Given the description of an element on the screen output the (x, y) to click on. 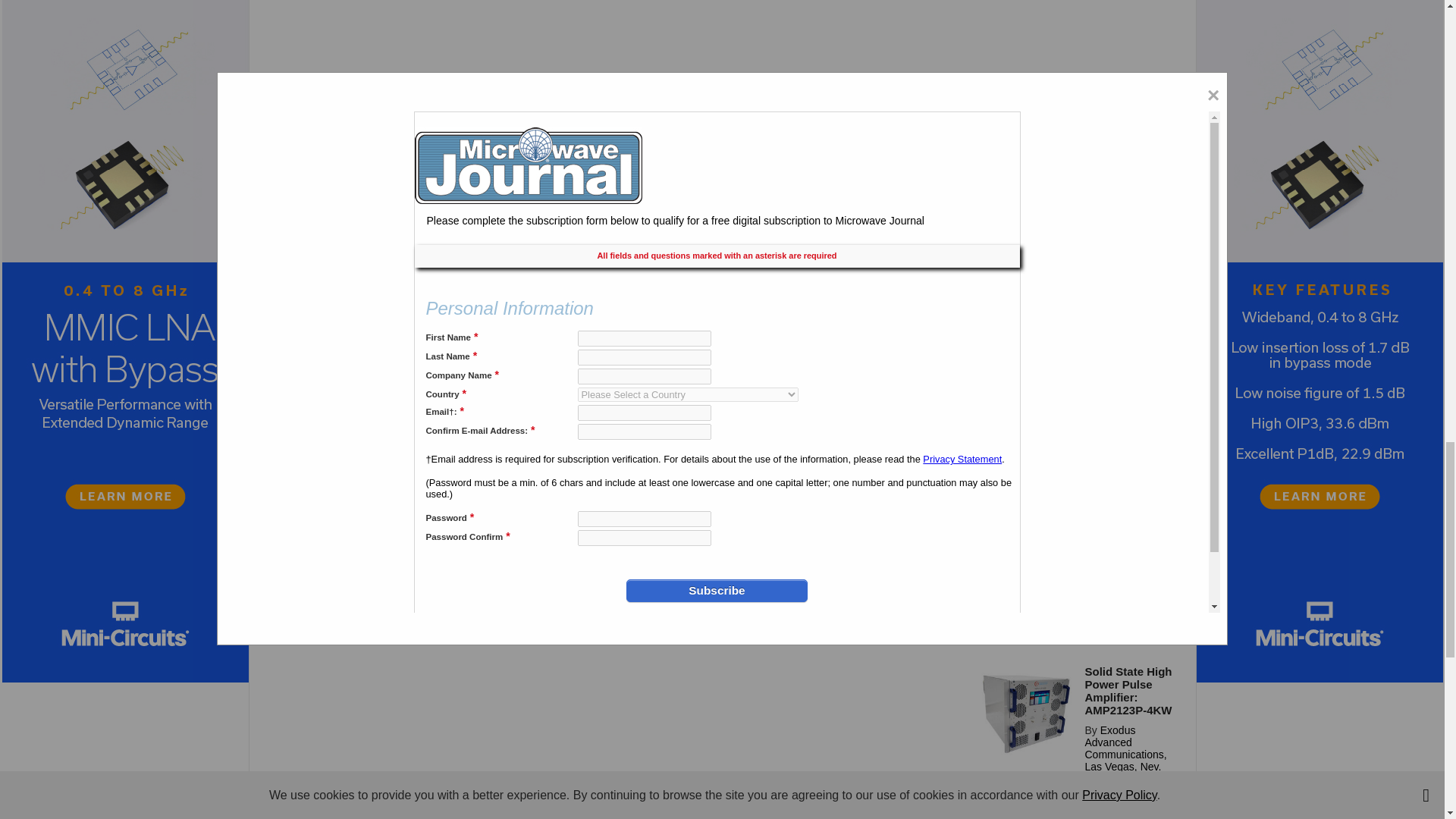
3rd party ad content (1075, 72)
krytar-6-26-24.jpg (1025, 470)
richardson-2-29-24wjt.jpg (1025, 796)
50P-2089 SMAwjt.jpg (1025, 582)
200x200 AMP 2123P-4KW No-Cost eNewsletter Promotion-6-3.jpg (1025, 713)
